Given the description of an element on the screen output the (x, y) to click on. 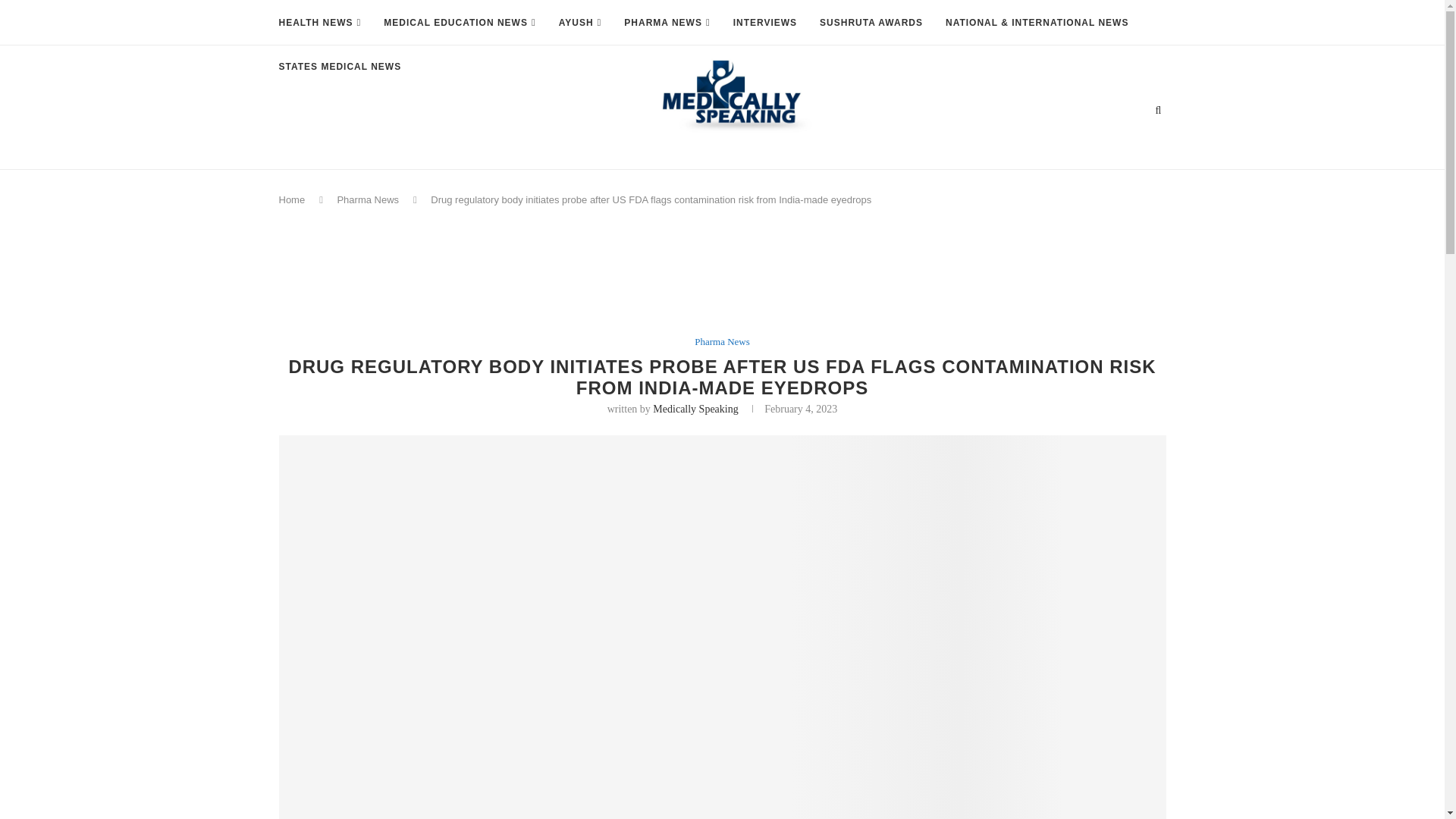
AYUSH (580, 22)
HEALTH NEWS (320, 22)
Medically Speaking (695, 408)
Home (292, 199)
Pharma News (721, 341)
MEDICAL EDUCATION NEWS (459, 22)
Pharma News (367, 199)
INTERVIEWS (764, 22)
STATES MEDICAL NEWS (340, 66)
PHARMA NEWS (667, 22)
SUSHRUTA AWARDS (871, 22)
